Given the description of an element on the screen output the (x, y) to click on. 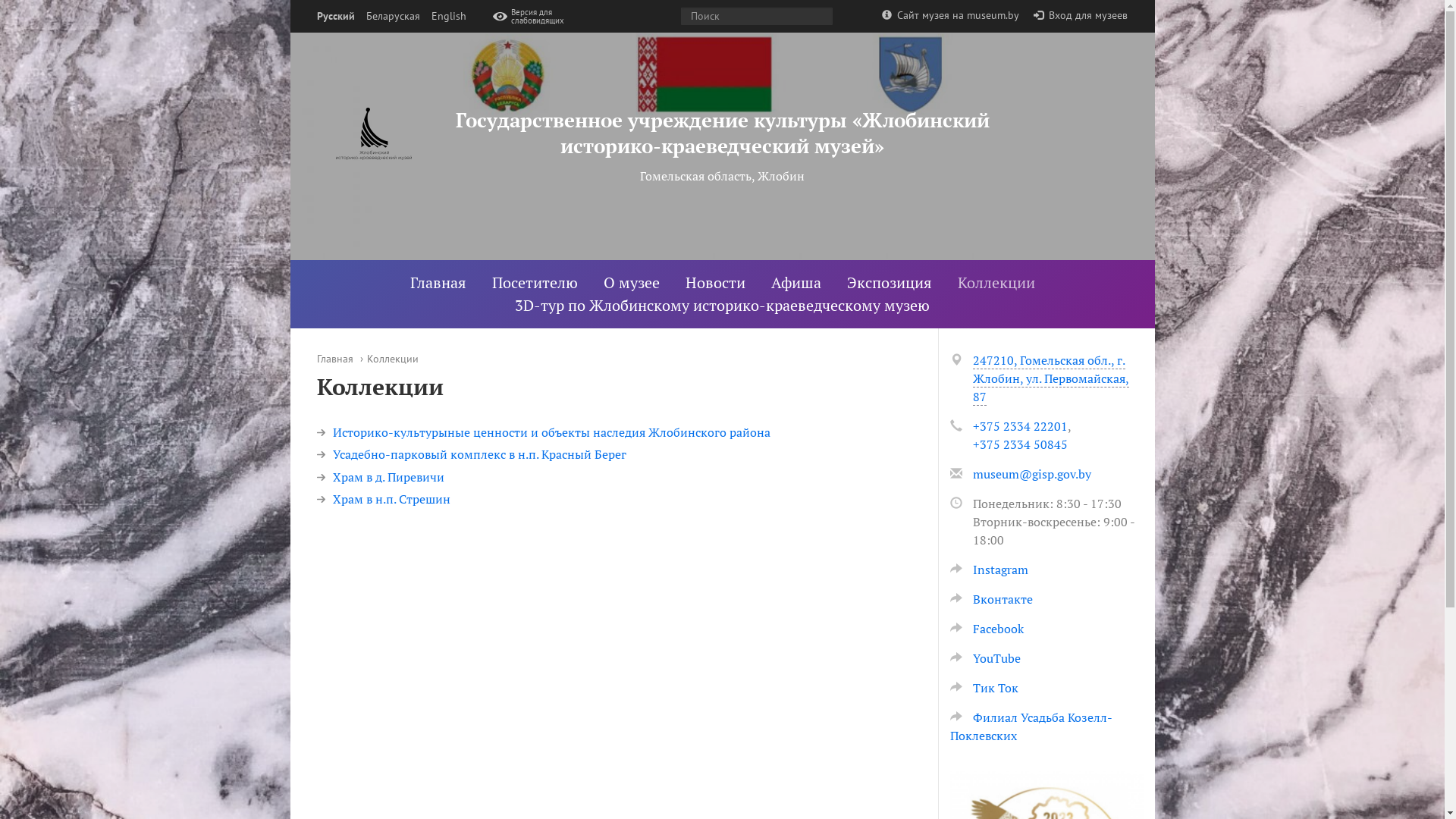
Facebook Element type: text (985, 628)
English Element type: text (447, 16)
+375 2334 22201 Element type: text (1019, 426)
YouTube Element type: text (984, 657)
Instagram Element type: text (988, 569)
+375 2334 50845 Element type: text (1019, 444)
museum@gisp.gov.by Element type: text (1031, 473)
